Given the description of an element on the screen output the (x, y) to click on. 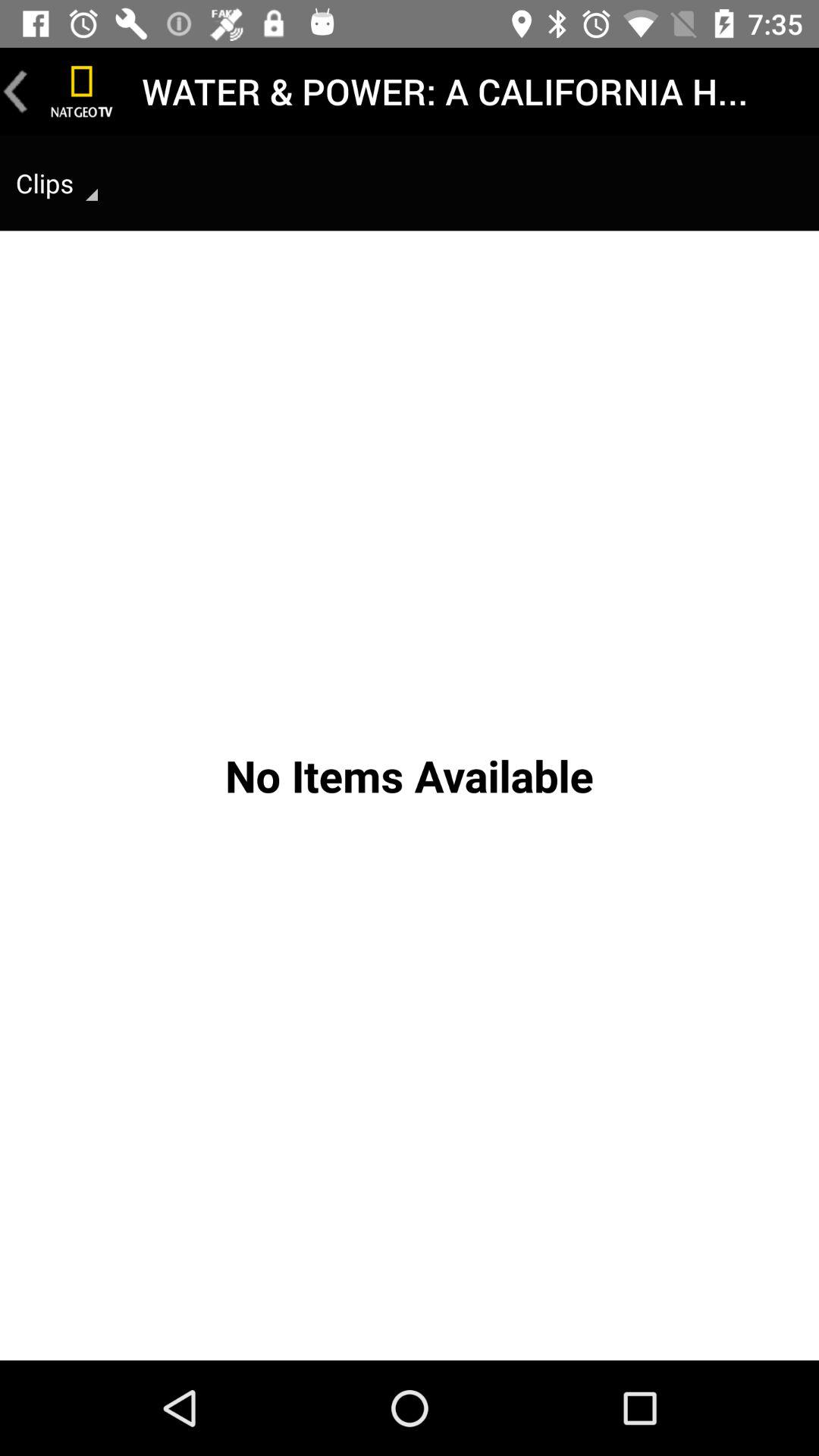
go to natgeotv (81, 91)
